Given the description of an element on the screen output the (x, y) to click on. 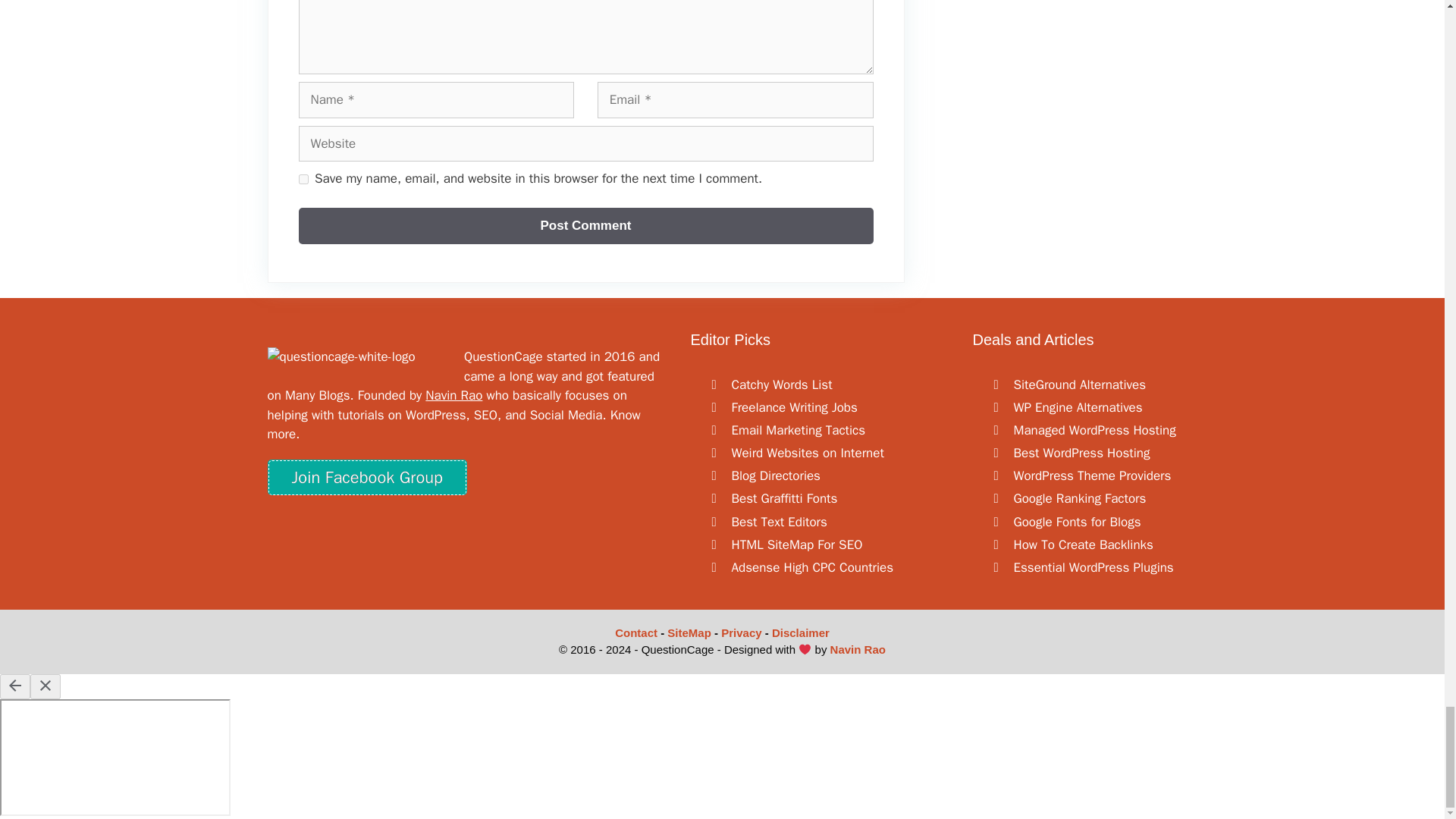
yes (303, 179)
Post Comment (585, 226)
